Given the description of an element on the screen output the (x, y) to click on. 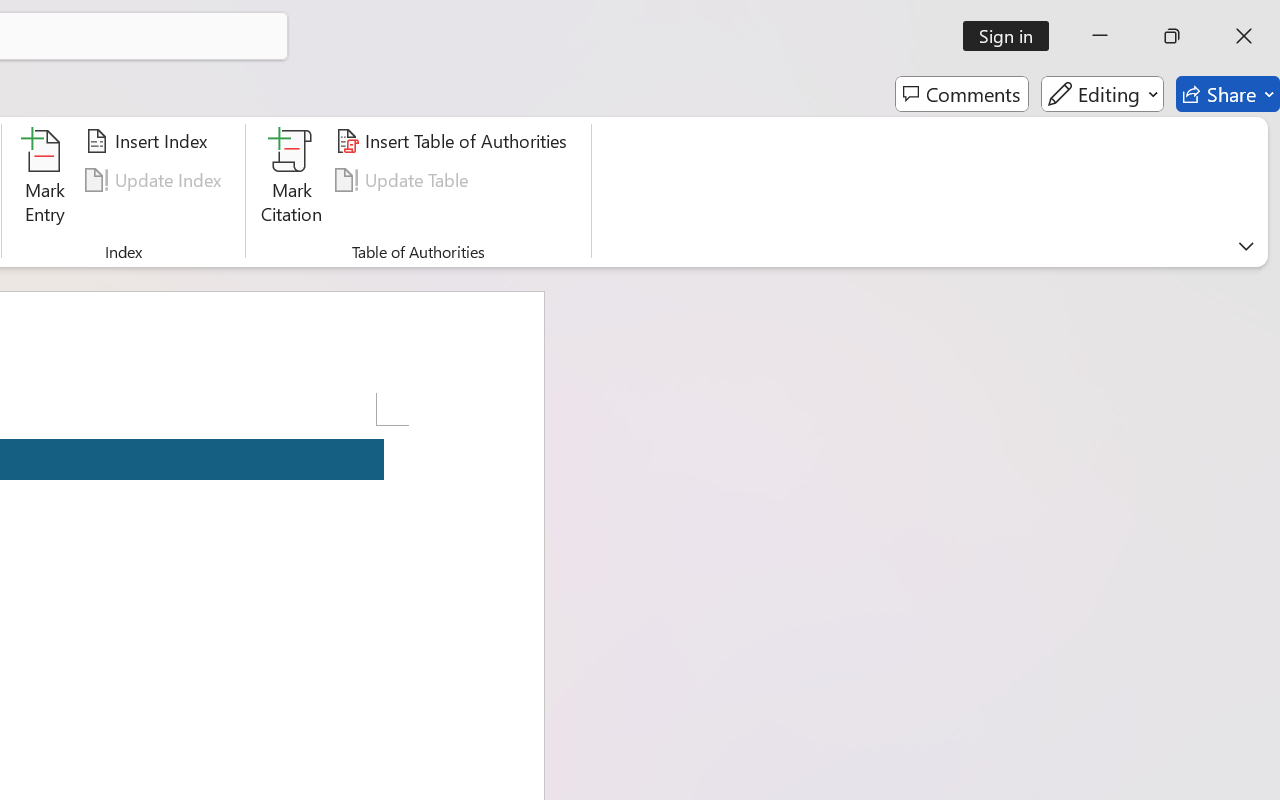
Editing (1101, 94)
Insert Table of Authorities... (453, 141)
Sign in (1012, 35)
Update Table (404, 179)
Mark Citation... (292, 179)
Update Index (156, 179)
Insert Index... (149, 141)
Mark Entry... (44, 179)
